Given the description of an element on the screen output the (x, y) to click on. 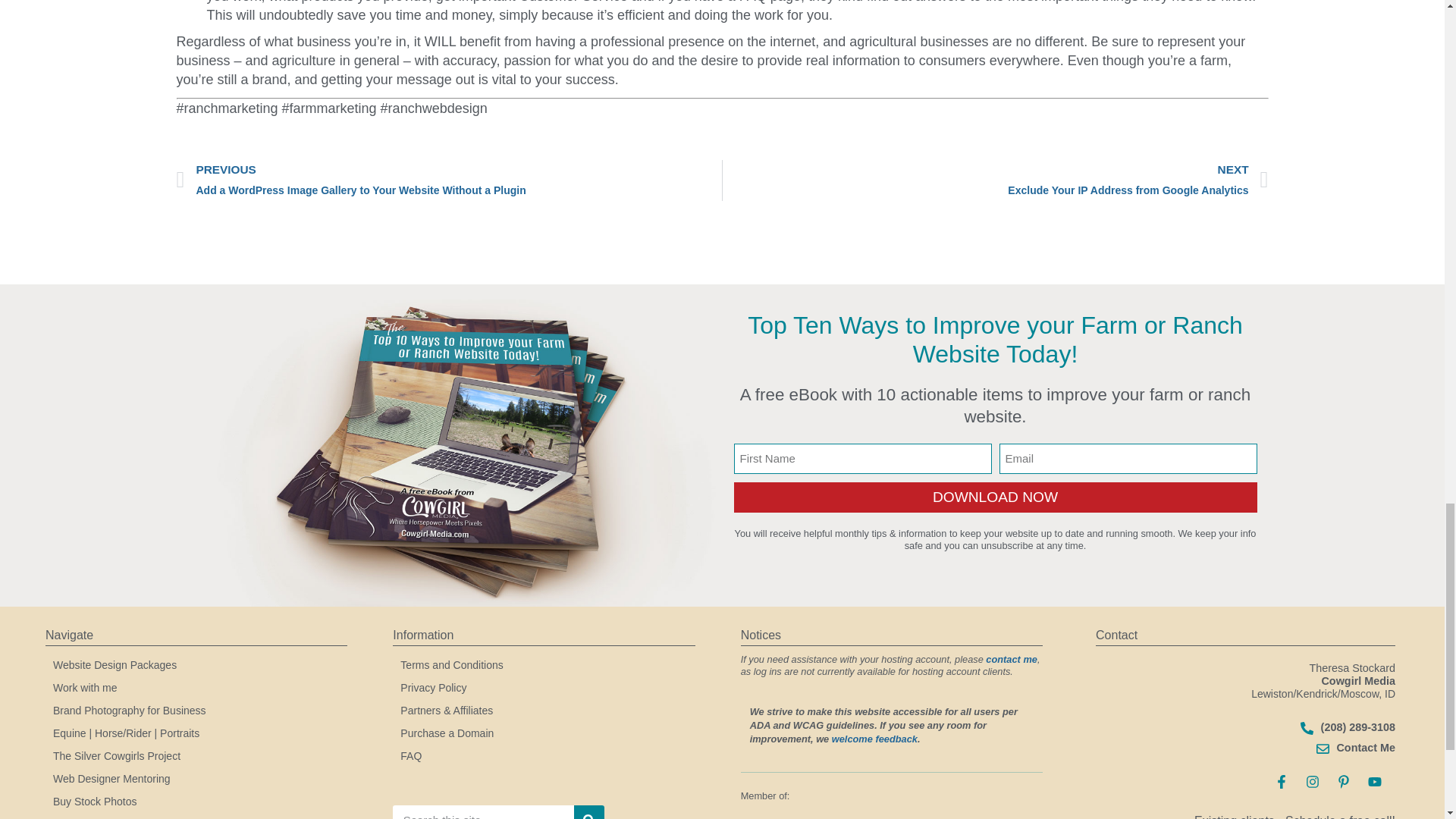
Search this site (498, 800)
